Given the description of an element on the screen output the (x, y) to click on. 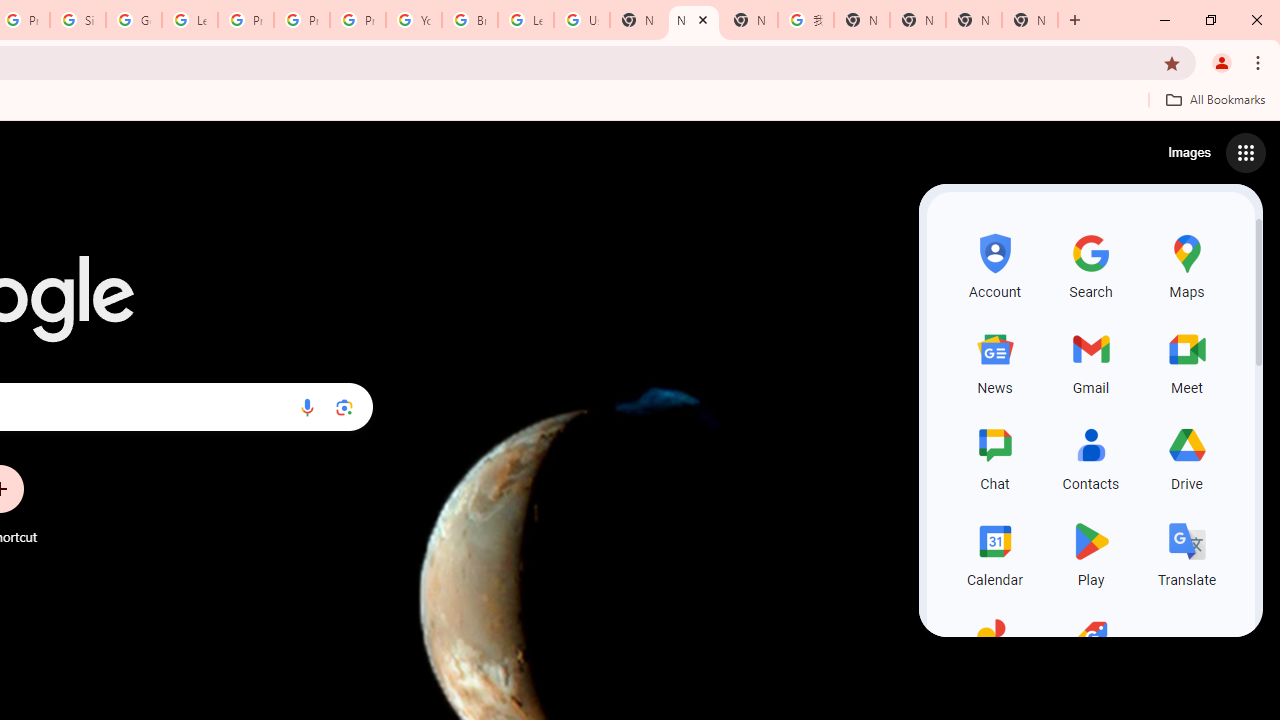
Privacy Help Center - Policies Help (245, 20)
Sign in - Google Accounts (77, 20)
Photos, row 5 of 5 and column 1 of 3 in the first section (994, 647)
Calendar, row 4 of 5 and column 1 of 3 in the first section (994, 551)
Privacy Help Center - Policies Help (301, 20)
Meet, row 2 of 5 and column 3 of 3 in the first section (1186, 359)
Chat, row 3 of 5 and column 1 of 3 in the first section (994, 455)
